Given the description of an element on the screen output the (x, y) to click on. 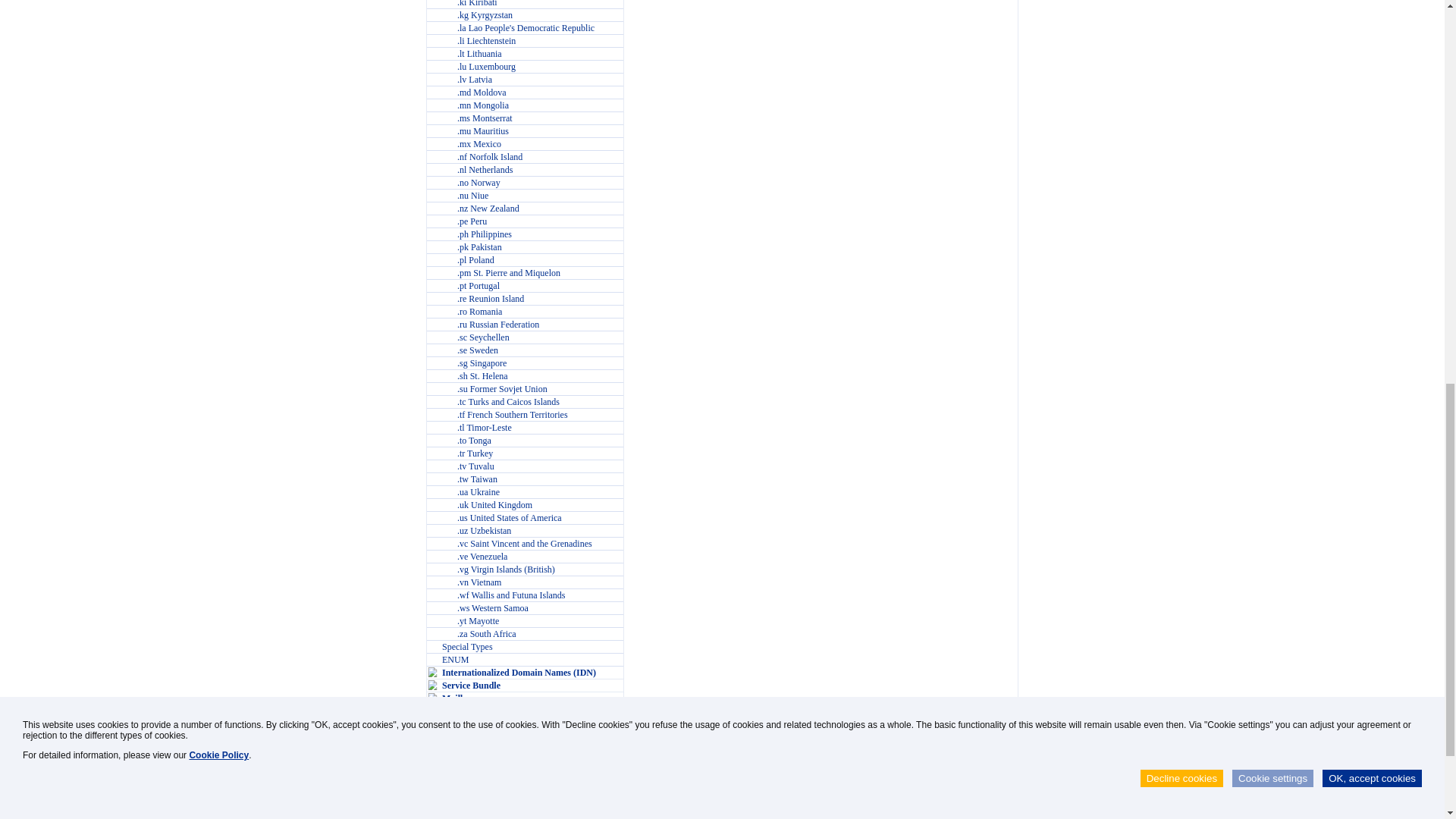
print (641, 795)
